Given the description of an element on the screen output the (x, y) to click on. 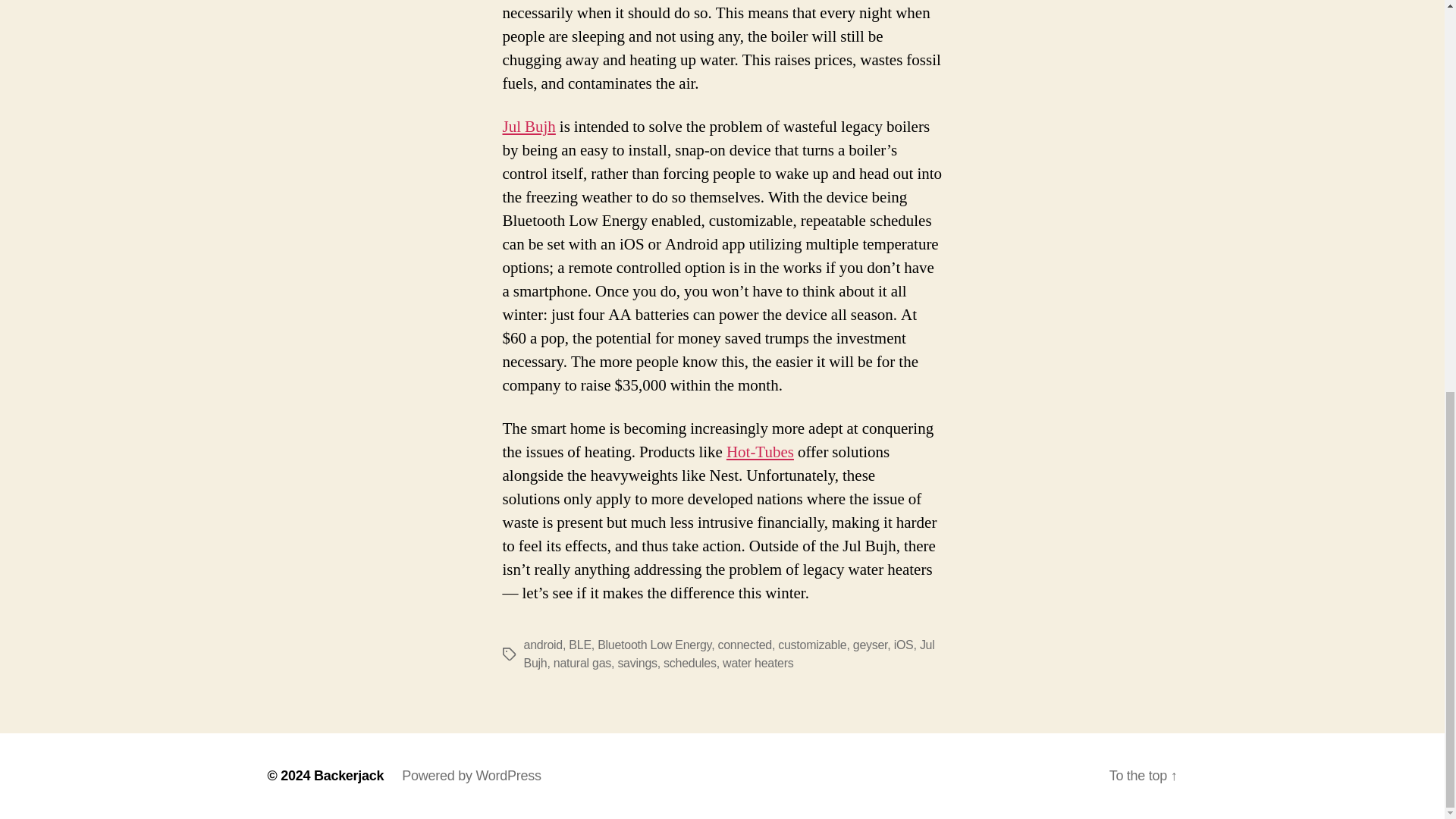
Powered by WordPress (470, 775)
geyser (870, 644)
natural gas (582, 662)
Hot-Tubes (759, 452)
schedules (689, 662)
connected (744, 644)
Jul Bujh (728, 653)
Bluetooth Low Energy (653, 644)
customizable (811, 644)
BLE (580, 644)
Backerjack (349, 775)
water heaters (757, 662)
Jul Bujh (528, 127)
savings (636, 662)
android (542, 644)
